Given the description of an element on the screen output the (x, y) to click on. 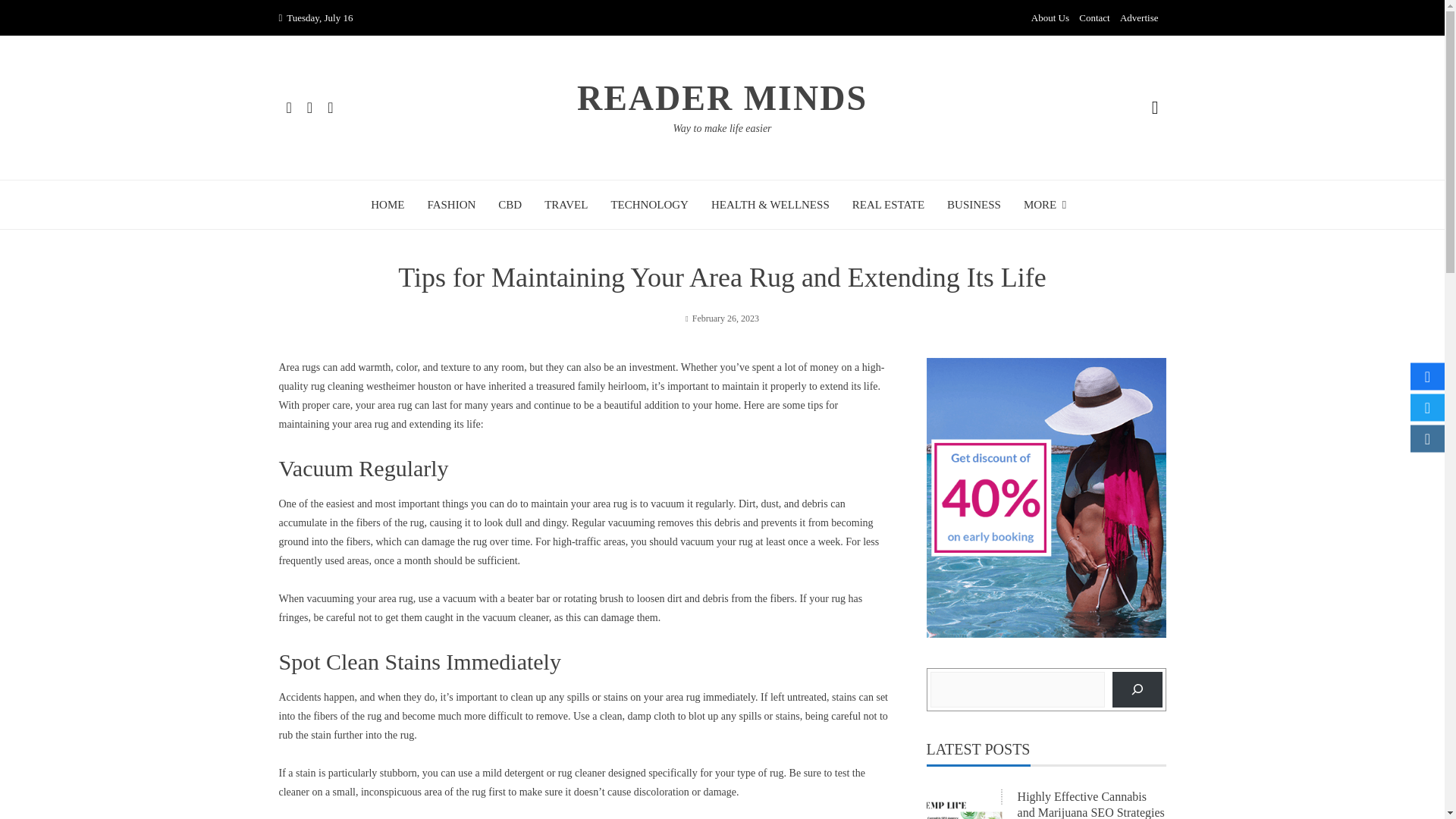
MORE (1048, 204)
About Us (1049, 17)
Advertise (1138, 17)
TRAVEL (566, 204)
REAL ESTATE (887, 204)
FASHION (451, 204)
rug cleaning westheimer houston (381, 386)
Contact (1093, 17)
CBD (509, 204)
BUSINESS (974, 204)
stain is particularly stubborn (355, 772)
HOME (387, 204)
TECHNOLOGY (649, 204)
READER MINDS (721, 97)
